Given the description of an element on the screen output the (x, y) to click on. 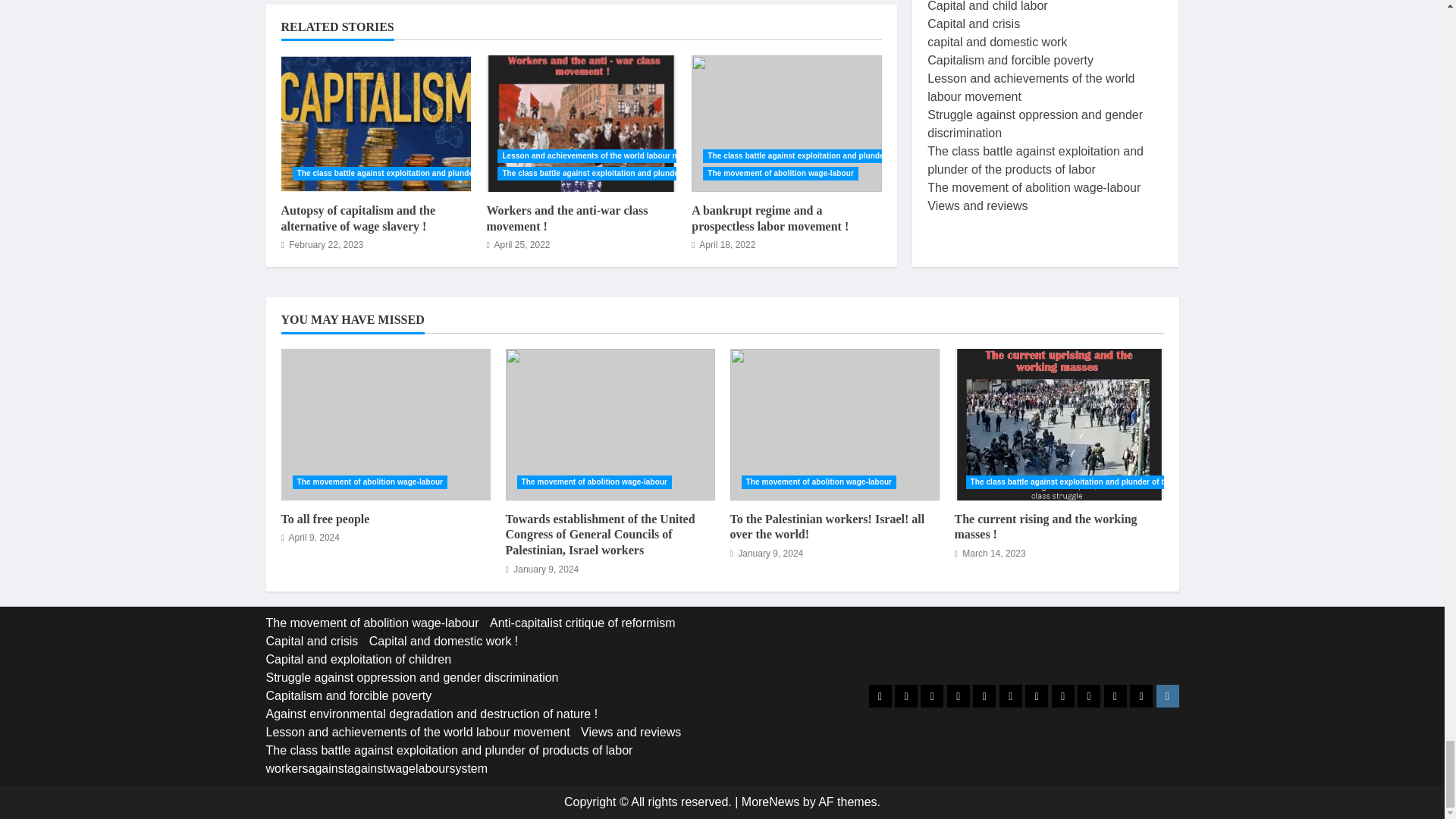
Autopsy of capitalism and the alternative of wage slavery ! (375, 123)
